Given the description of an element on the screen output the (x, y) to click on. 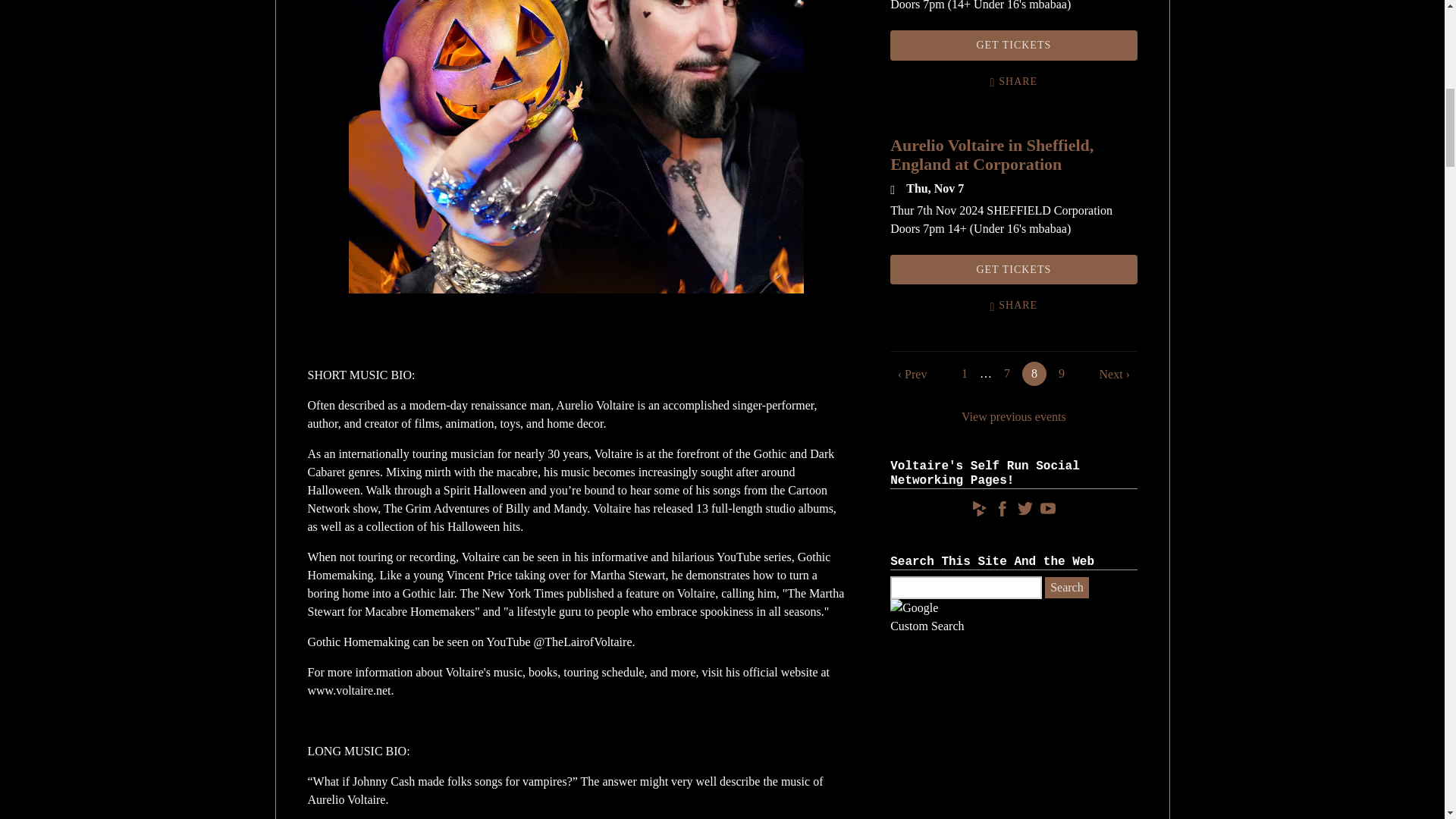
Search (1067, 587)
Share Aurelio Voltaire in Wolverhampton at NAC on Nov 6 (1013, 81)
